Given the description of an element on the screen output the (x, y) to click on. 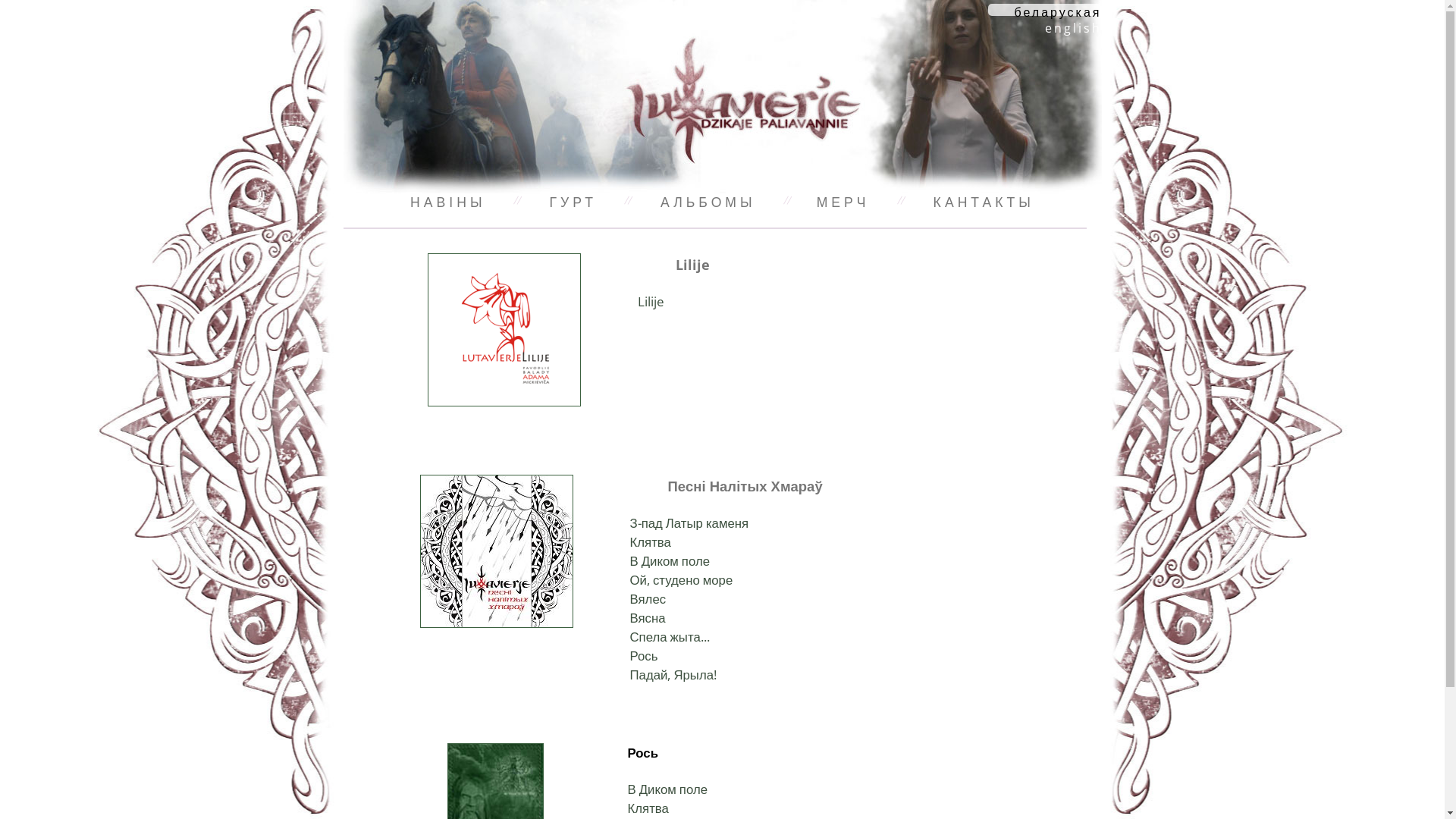
english Element type: text (1072, 27)
Lilije Element type: text (650, 301)
